Given the description of an element on the screen output the (x, y) to click on. 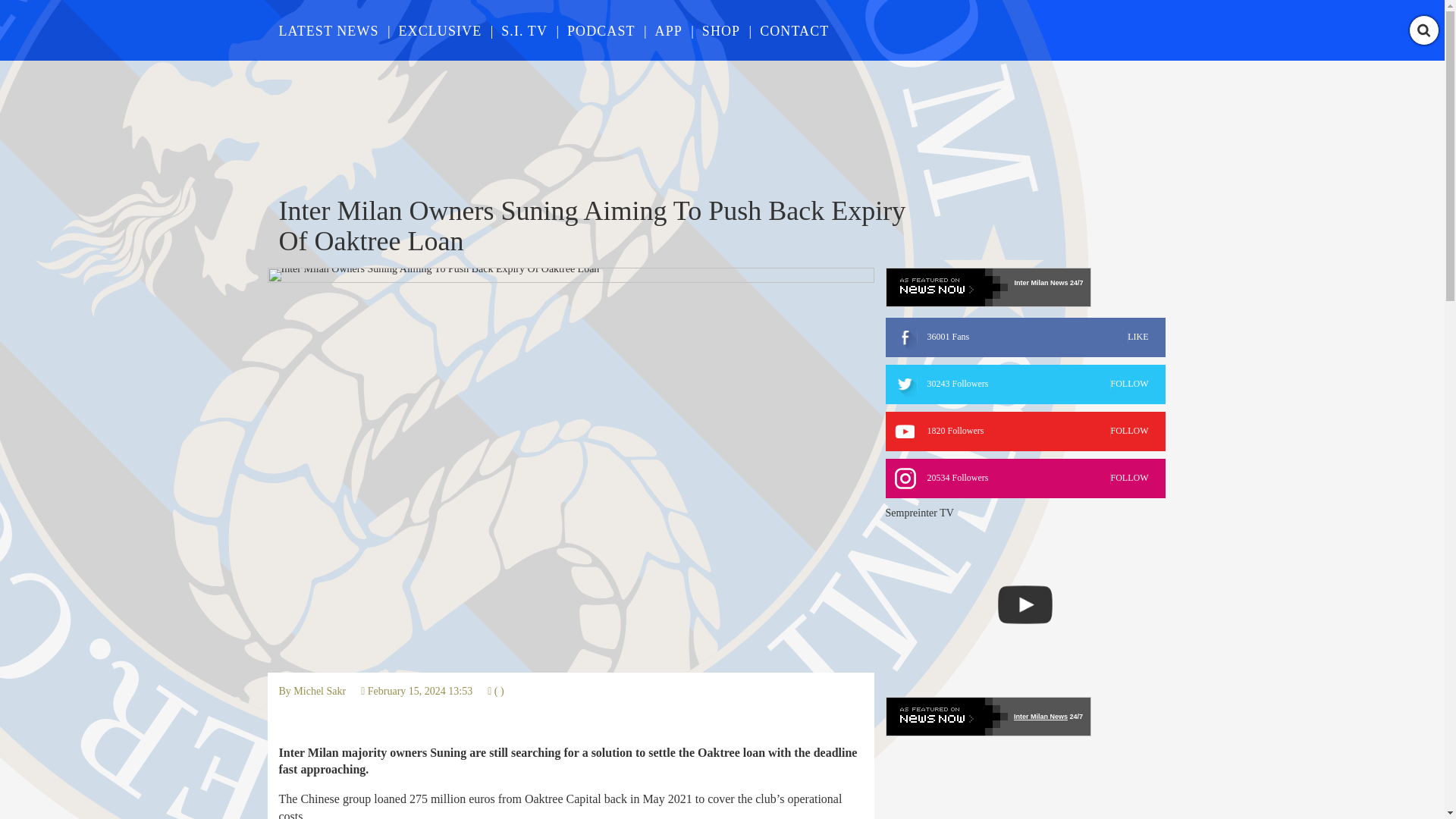
View more articles by Michel Sakr (1025, 431)
Inter Milan News (1025, 477)
S.I. TV (320, 690)
Inter Milan News (1025, 384)
EXCLUSIVE (1040, 716)
APP (523, 30)
SHOP (1040, 282)
LATEST NEWS (439, 30)
Michel Sakr (668, 30)
CONTACT (720, 30)
